Given the description of an element on the screen output the (x, y) to click on. 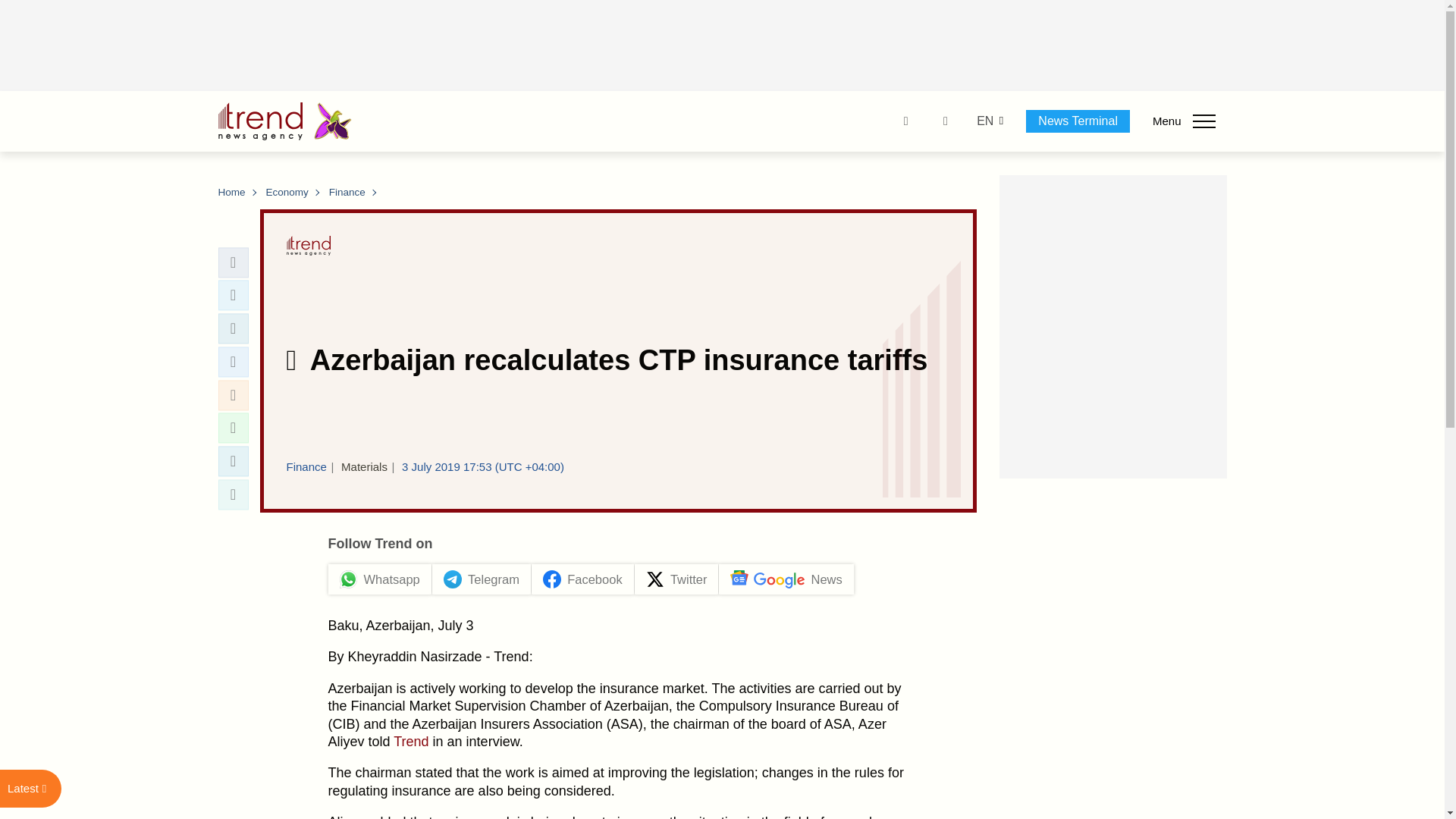
EN (984, 121)
News Terminal (1077, 120)
English (984, 121)
